Given the description of an element on the screen output the (x, y) to click on. 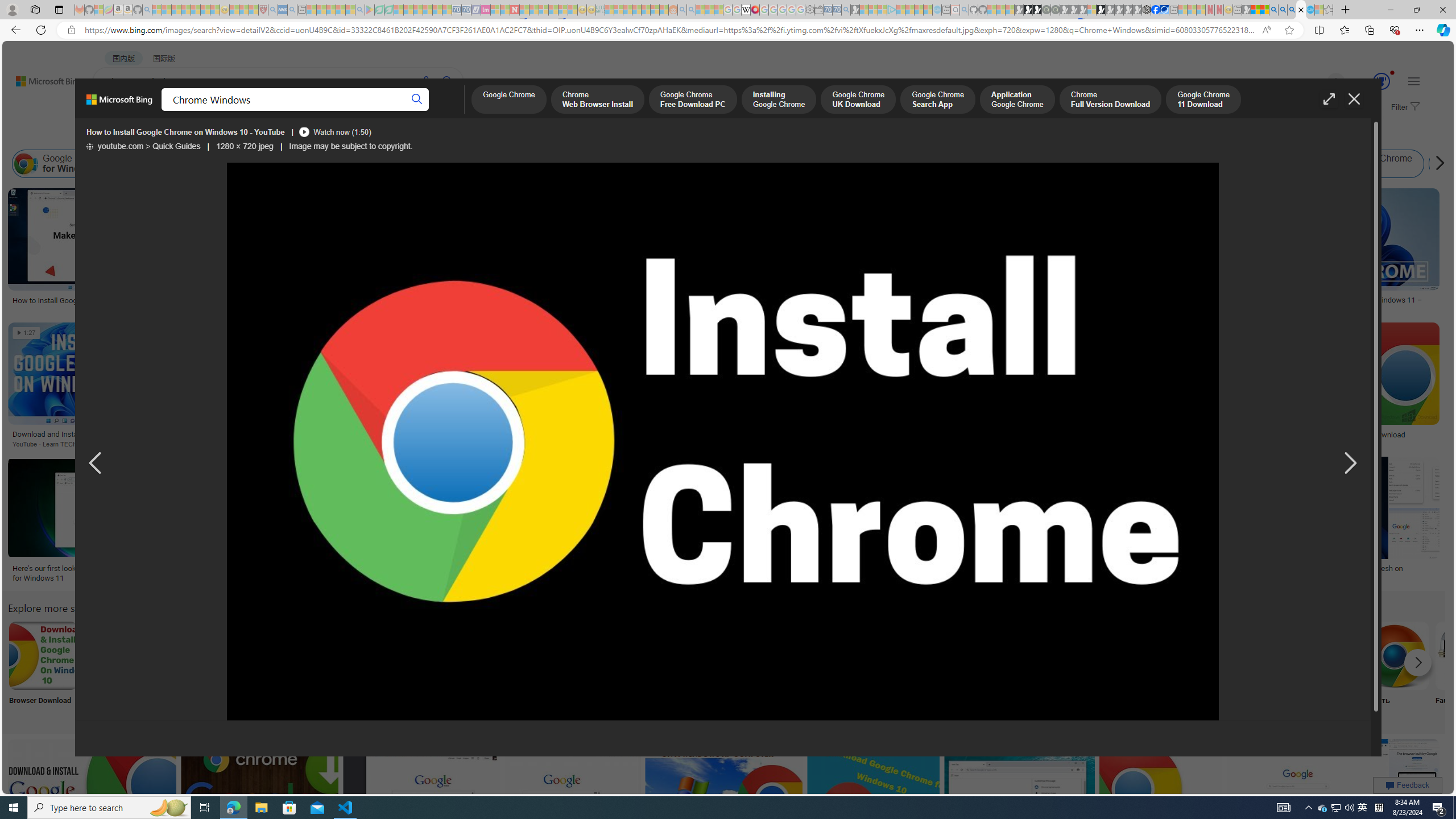
Scroll right (1436, 163)
Chrome Desktop Computer Desktop Computer (418, 669)
Color (173, 135)
AirNow.gov (1163, 9)
How to download google chrome on windows 10 - bombver (280, 573)
Get Google Chrome for Windows (231, 163)
Chrome Download for PC Download for PC (794, 669)
People (295, 135)
Chrome for Windows 11 (1217, 163)
How To Download And Install Google Chrome On Windows (987, 434)
Install Google Chrome Windows 8 (603, 163)
Type (212, 135)
